Given the description of an element on the screen output the (x, y) to click on. 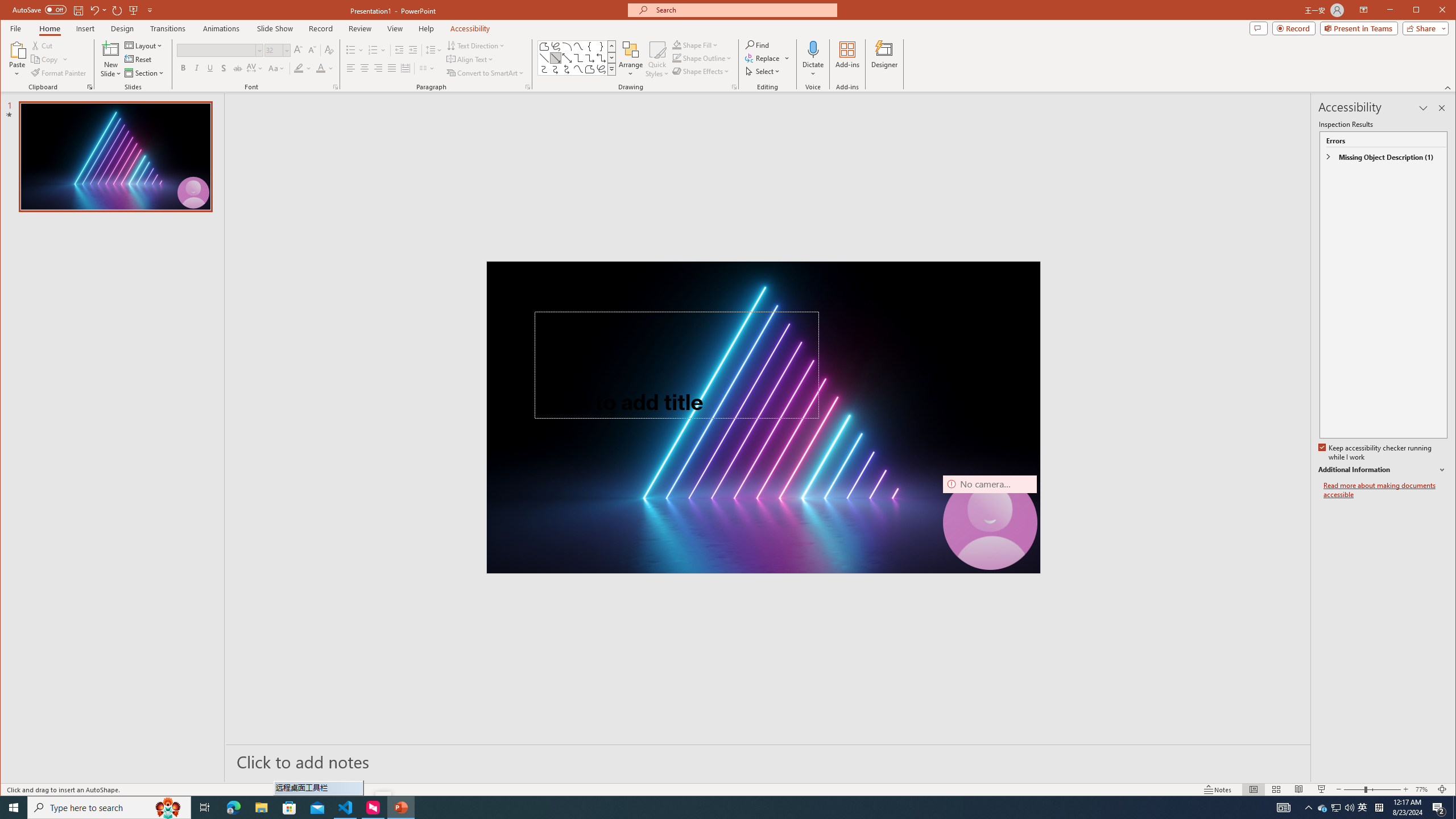
Connector: Curved Double-Arrow (567, 69)
